Given the description of an element on the screen output the (x, y) to click on. 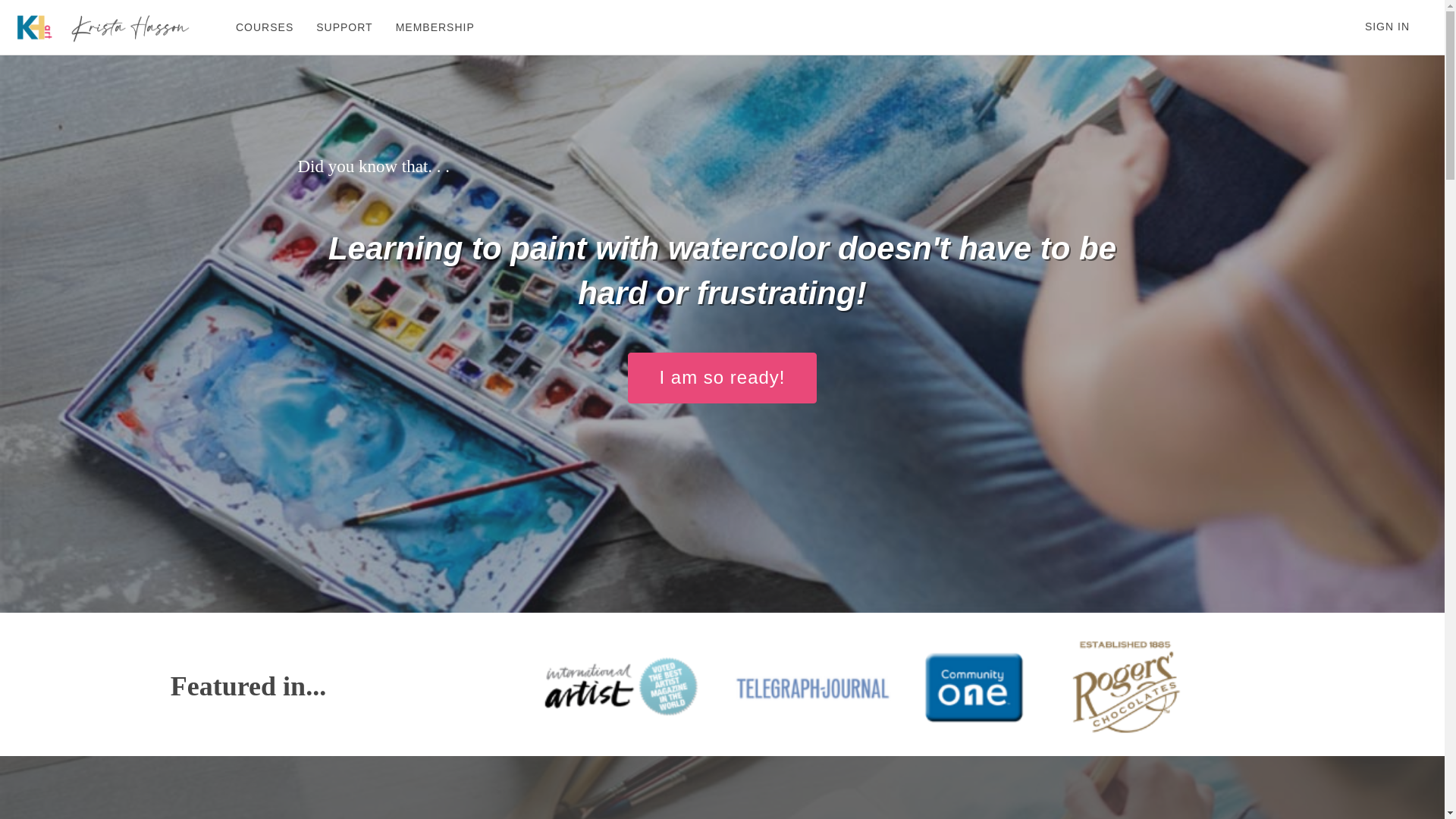
SIGN IN (1387, 26)
SUPPORT (344, 27)
COURSES (264, 27)
MEMBERSHIP (435, 27)
I am so ready! (721, 377)
